Given the description of an element on the screen output the (x, y) to click on. 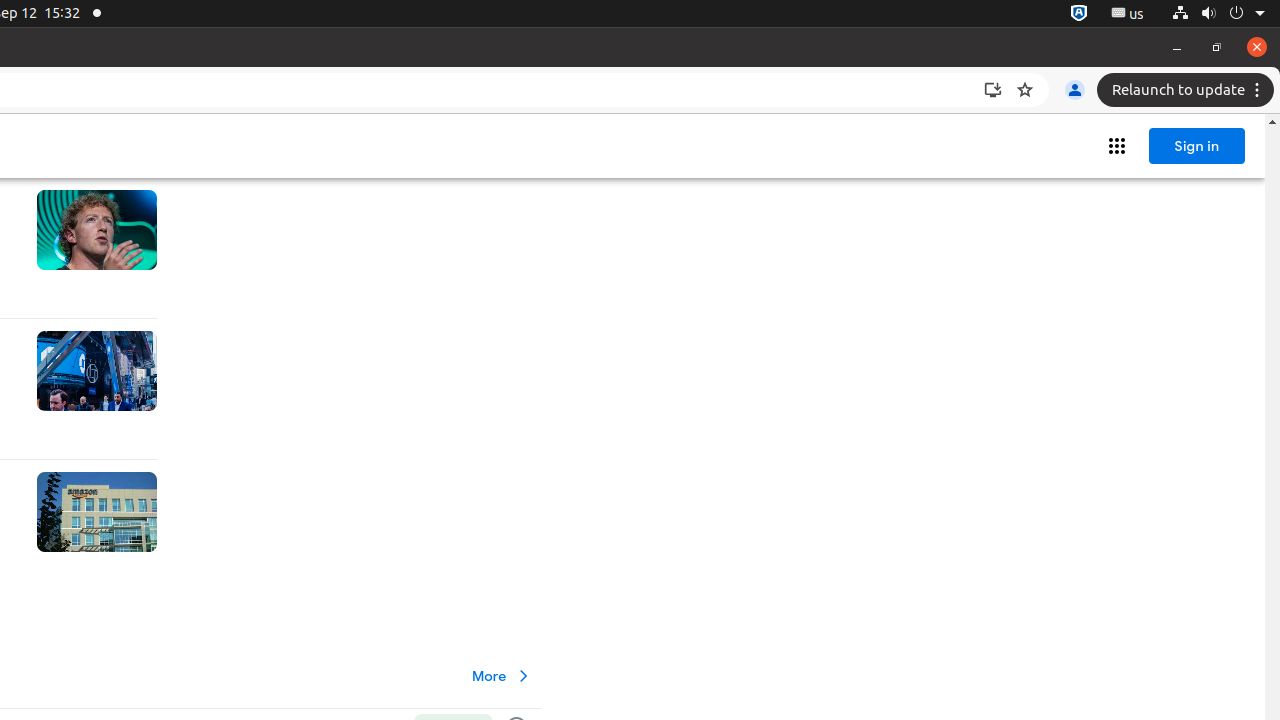
View more Element type: push-button (502, 676)
You Element type: push-button (1075, 90)
Google apps Element type: push-button (1117, 145)
Sign in Element type: link (1197, 146)
Bookmark this tab Element type: push-button (1025, 90)
